Given the description of an element on the screen output the (x, y) to click on. 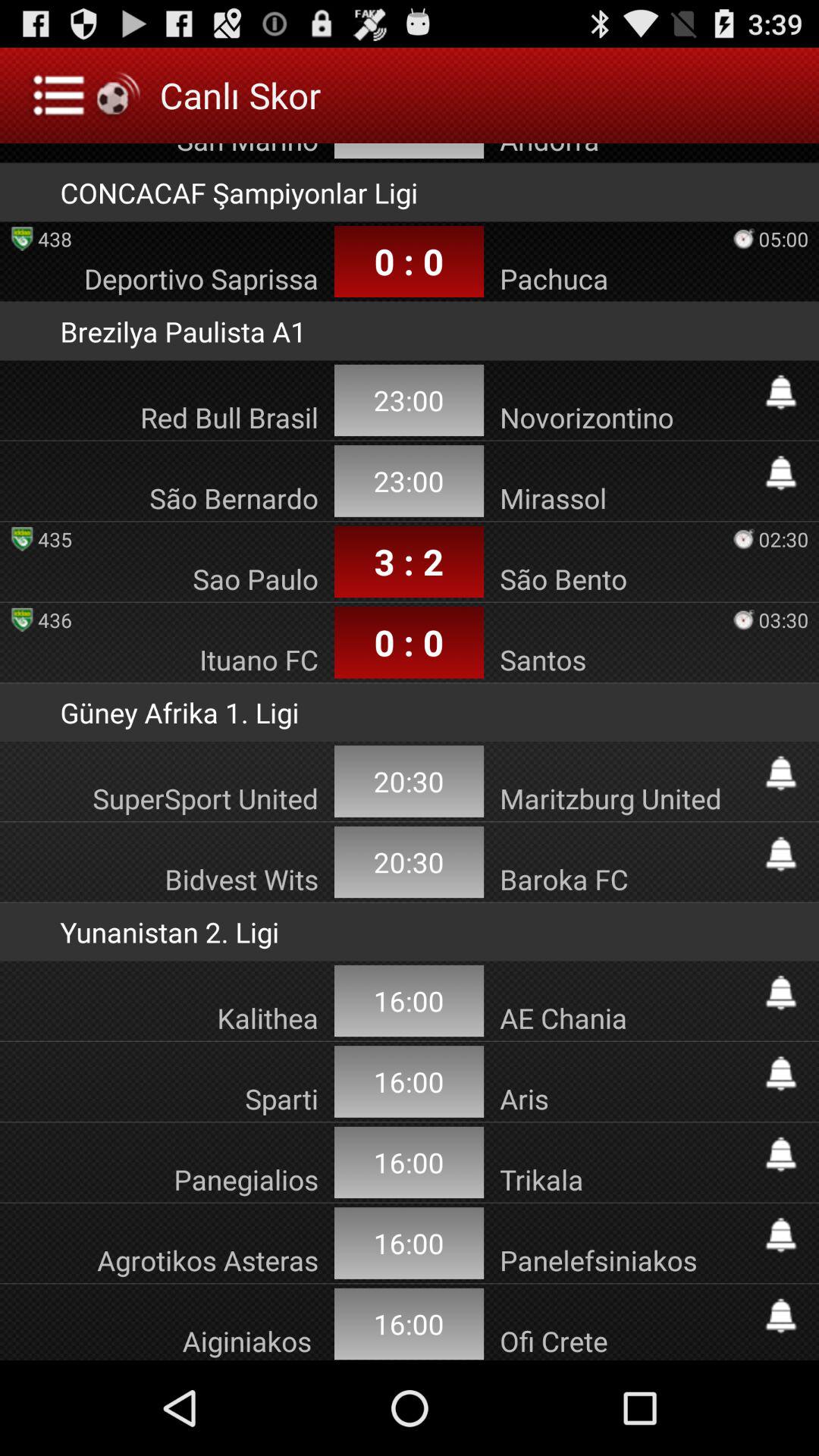
toggle alarm (780, 1315)
